Given the description of an element on the screen output the (x, y) to click on. 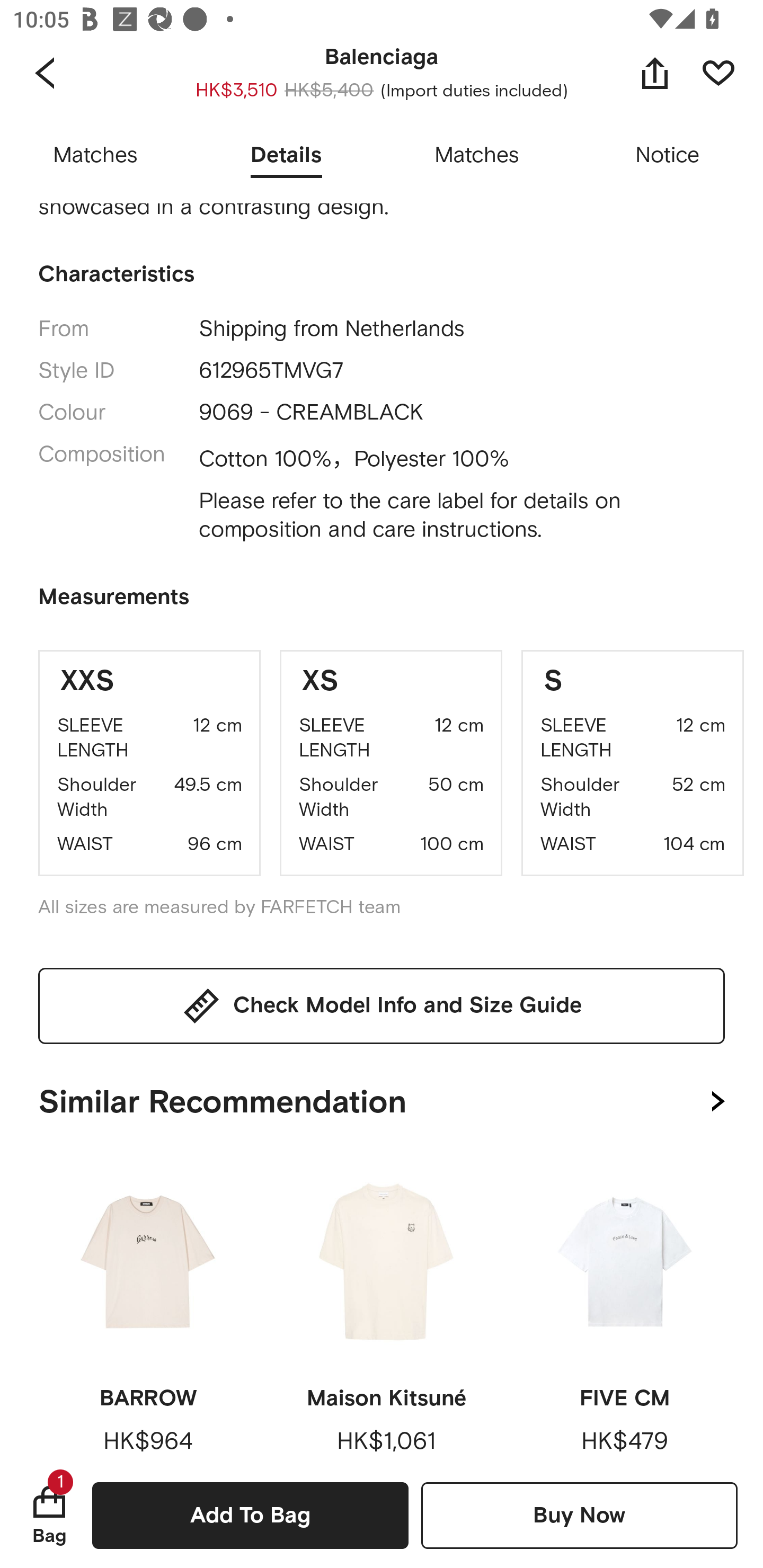
Matches (95, 155)
Matches (476, 155)
Notice (667, 155)
 Check Model Info and Size Guide (381, 1005)
Similar Recommendation (381, 1098)
BARROW HK$964 (147, 1307)
Maison Kitsuné HK$1,061 (385, 1307)
FIVE CM HK$479 (624, 1307)
Bag 1 (49, 1515)
Add To Bag (250, 1515)
Buy Now (579, 1515)
